Given the description of an element on the screen output the (x, y) to click on. 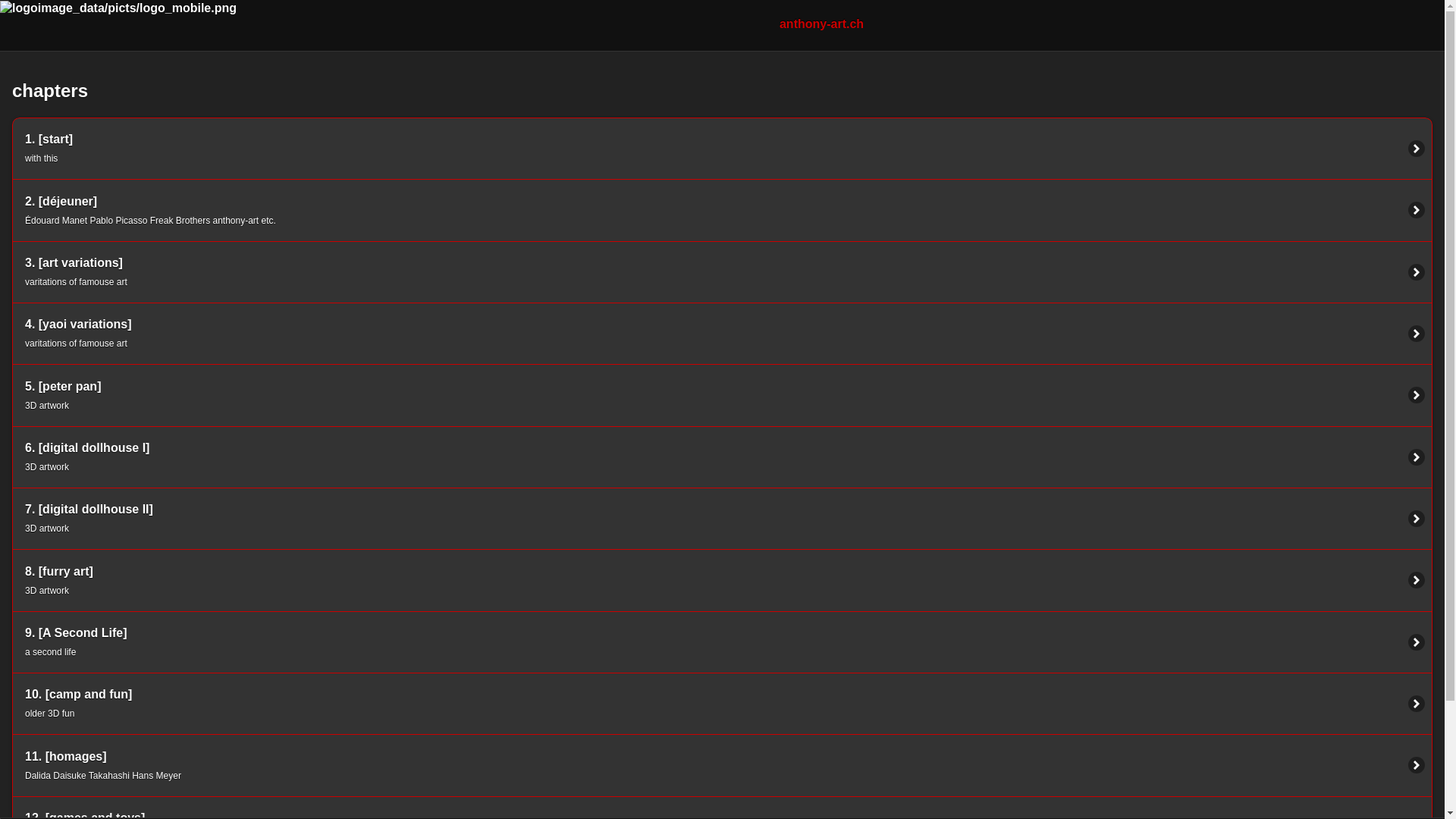
5. [peter pan]
3D artwork Element type: text (722, 394)
7. [digital dollhouse II]
3D artwork Element type: text (722, 518)
8. [furry art]
3D artwork Element type: text (722, 579)
10. [camp and fun]
older 3D fun Element type: text (722, 703)
3. [art variations]
varitations of famouse art Element type: text (722, 271)
anthony-art.ch Element type: text (821, 23)
1. [start]
with this Element type: text (722, 147)
11. [homages]
Dalida Daisuke Takahashi Hans Meyer Element type: text (722, 764)
6. [digital dollhouse I]
3D artwork Element type: text (722, 456)
9. [A Second Life]
a second life Element type: text (722, 641)
4. [yaoi variations]
varitations of famouse art Element type: text (722, 333)
